Given the description of an element on the screen output the (x, y) to click on. 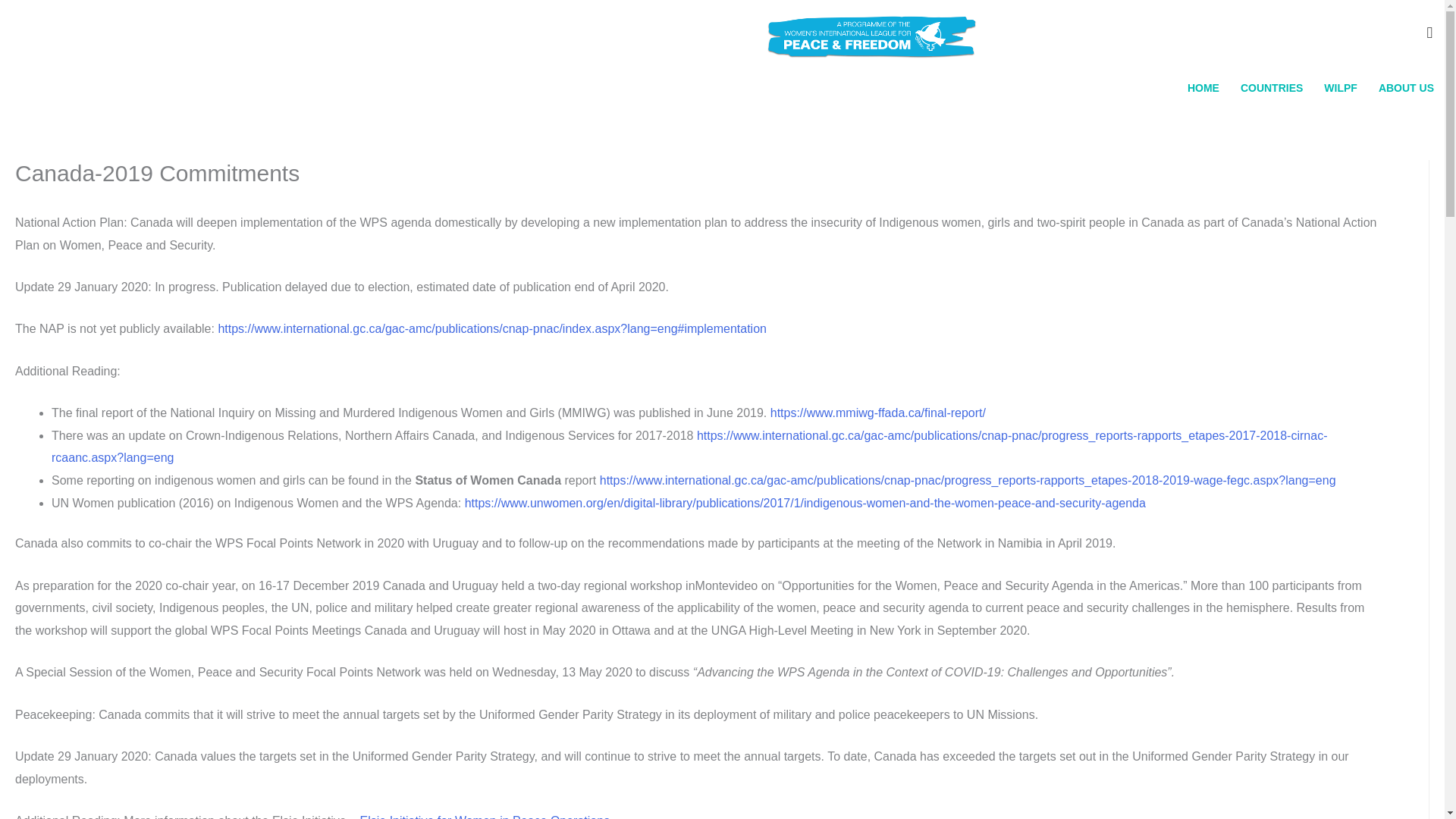
WILPF (1340, 87)
COUNTRIES (1271, 87)
Search (18, 17)
Elsie Initiative for Women in Peace Operations (484, 816)
HOME (1203, 87)
